Given the description of an element on the screen output the (x, y) to click on. 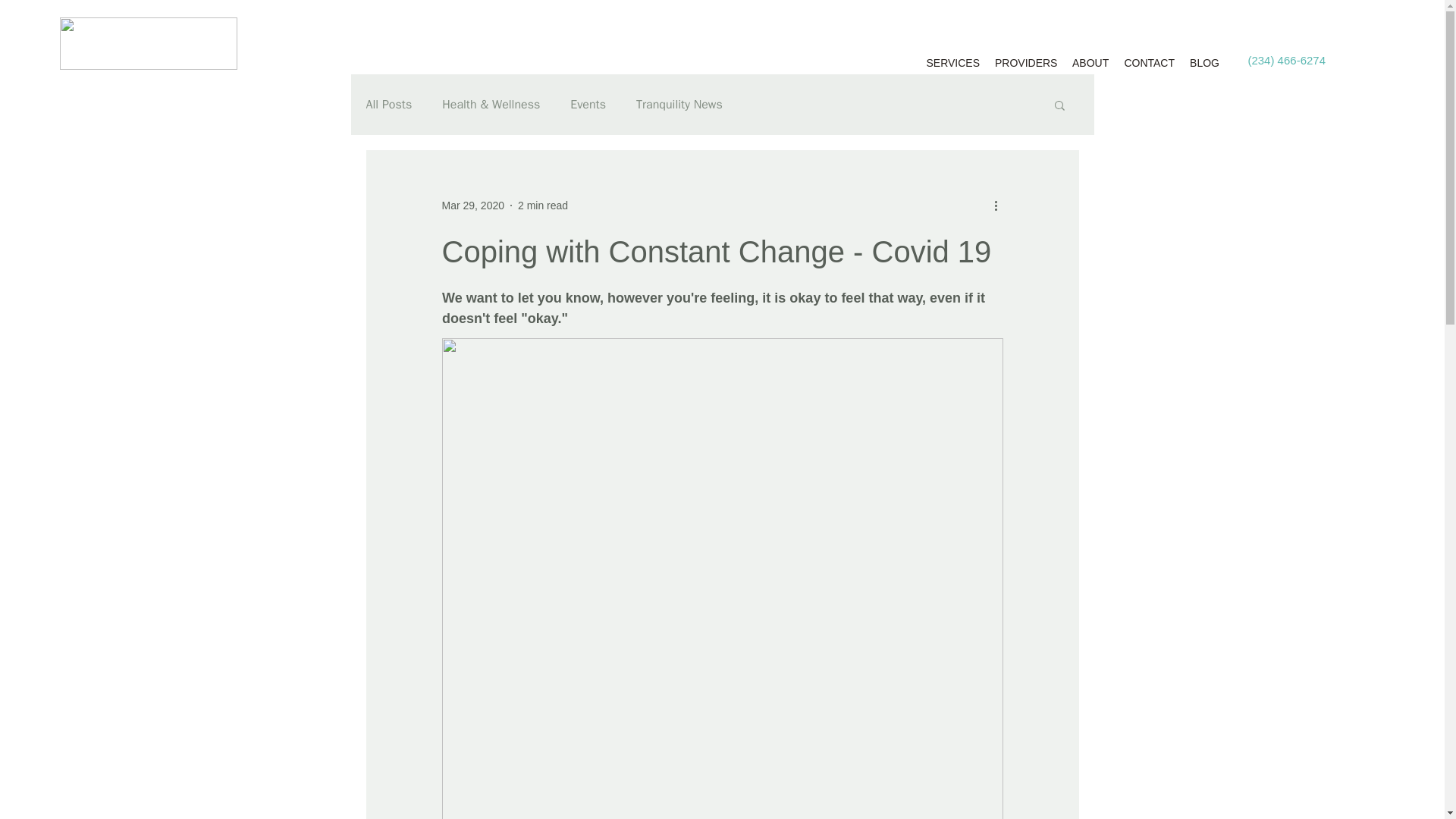
SERVICES (952, 62)
BLOG (1204, 62)
Events (587, 105)
PROVIDERS (1025, 62)
Tranquility News (679, 105)
All Posts (388, 105)
CONTACT (1149, 62)
2 min read (542, 204)
ABOUT (1090, 62)
Mar 29, 2020 (472, 204)
